Given the description of an element on the screen output the (x, y) to click on. 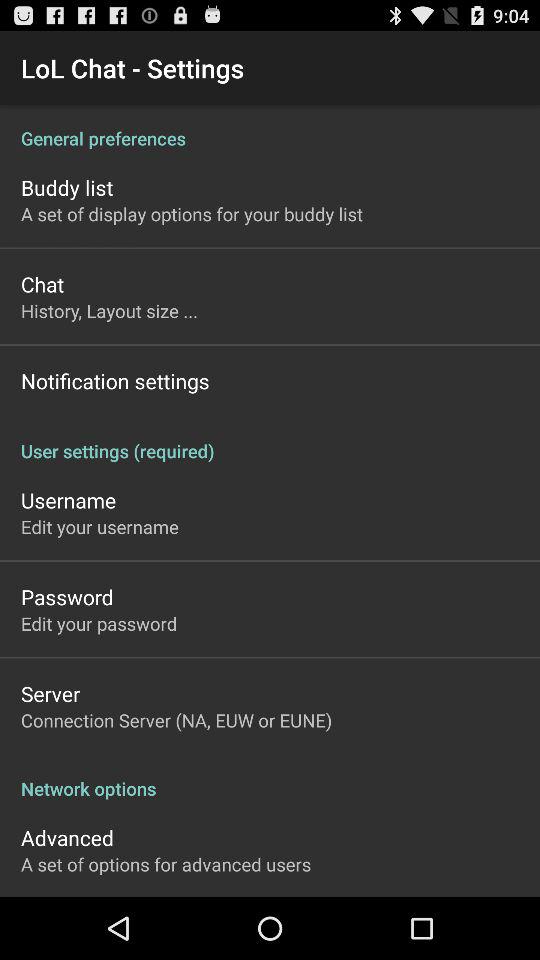
press item above the advanced (270, 778)
